Given the description of an element on the screen output the (x, y) to click on. 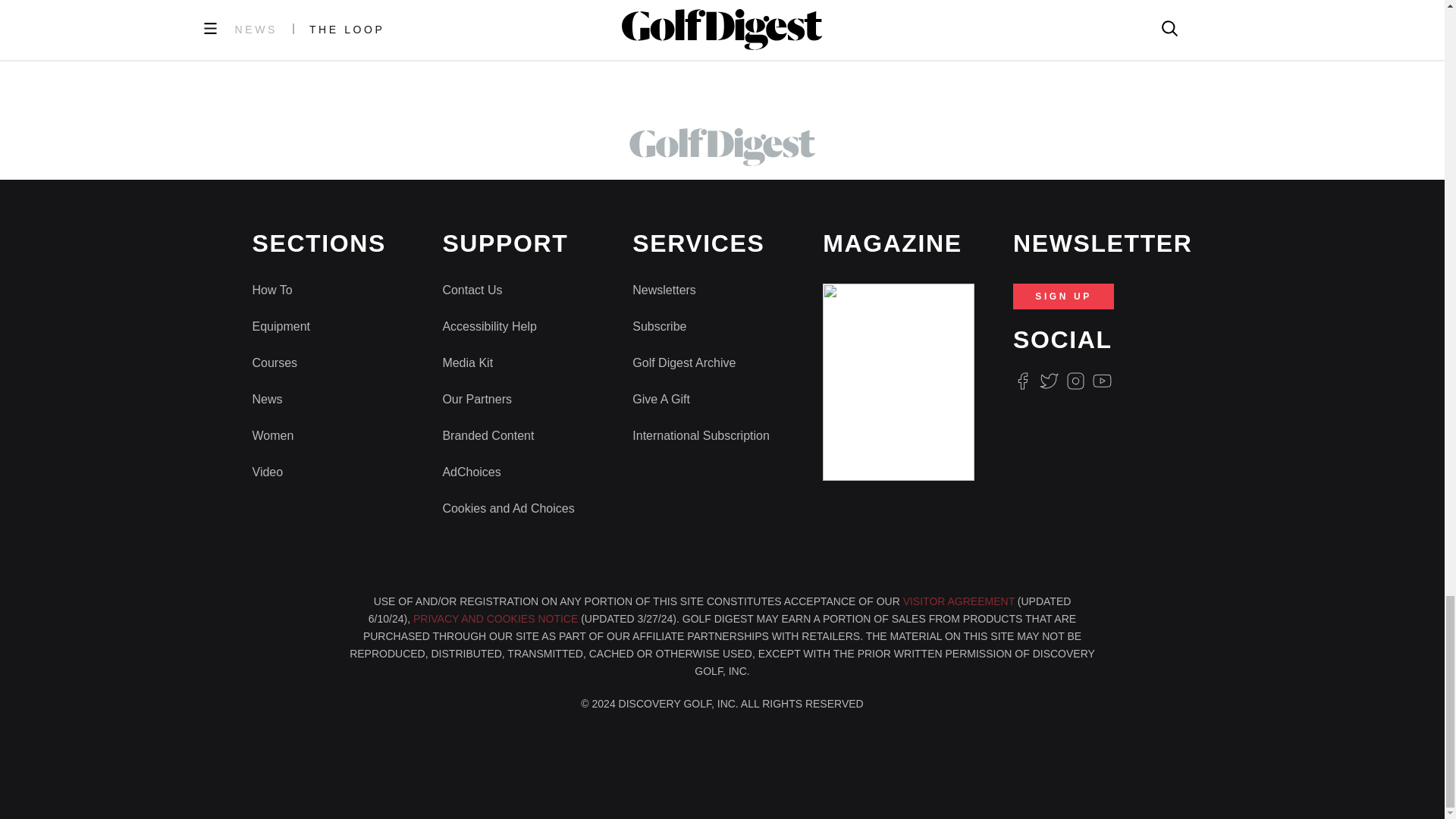
Twitter Logo (1048, 380)
Instagram Logo (1074, 380)
Youtube Icon (1102, 380)
Facebook Logo (1022, 380)
